Given the description of an element on the screen output the (x, y) to click on. 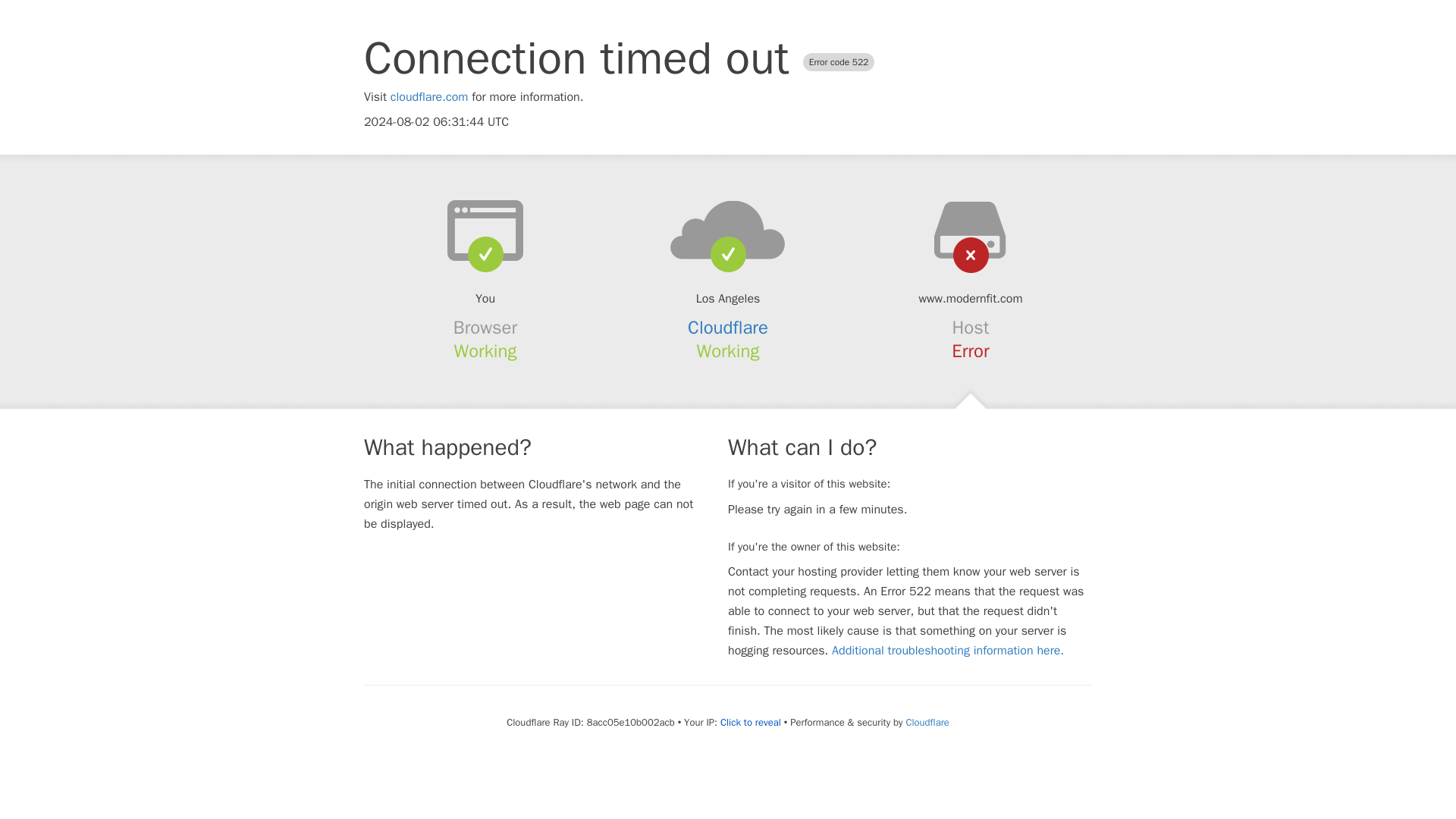
Cloudflare (927, 721)
Cloudflare (727, 327)
Additional troubleshooting information here. (947, 650)
cloudflare.com (429, 96)
Click to reveal (750, 722)
